Given the description of an element on the screen output the (x, y) to click on. 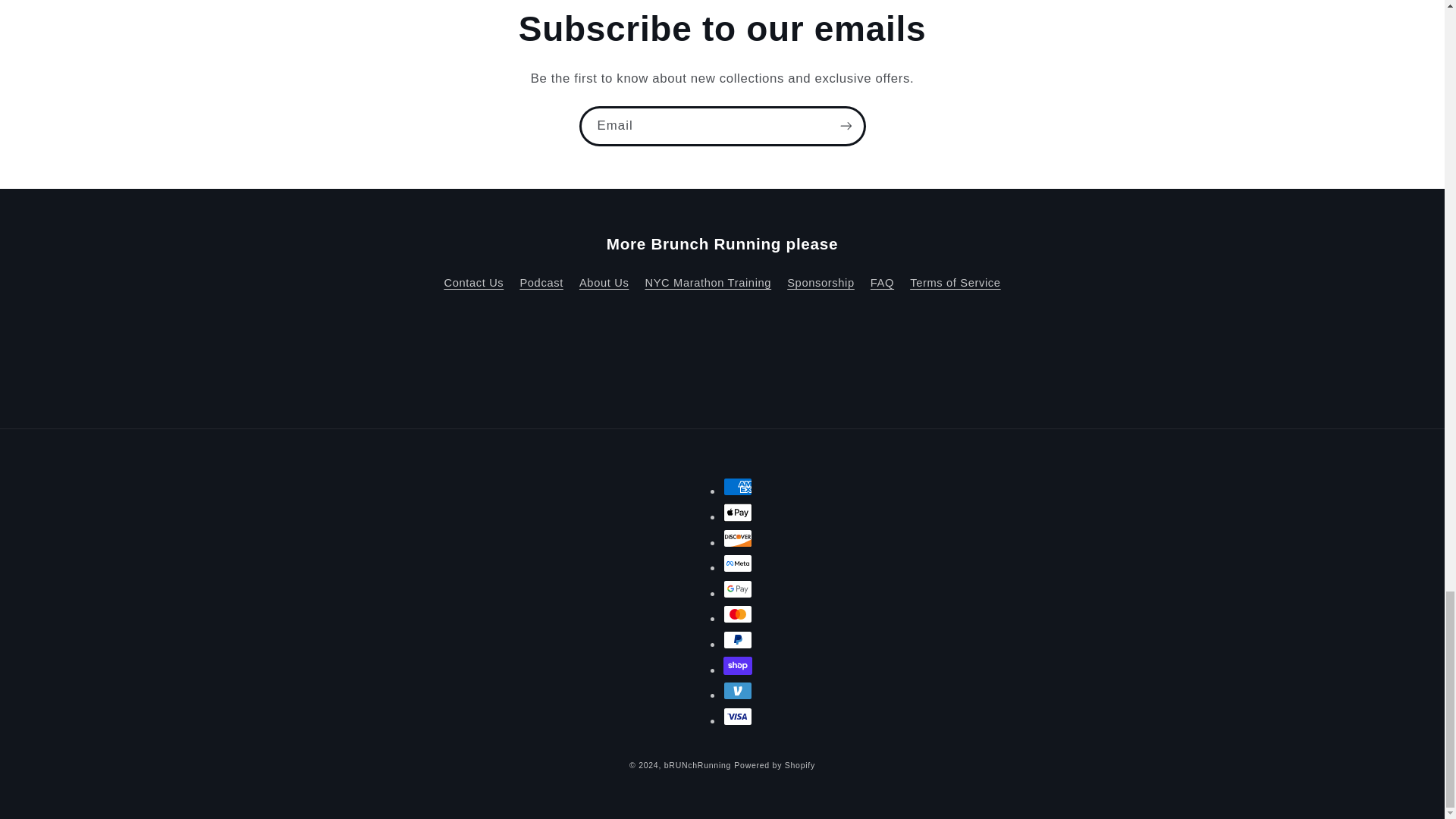
American Express (737, 486)
Shop Pay (737, 665)
Discover (737, 538)
Meta Pay (737, 563)
Mastercard (737, 614)
Venmo (737, 690)
Google Pay (737, 588)
PayPal (737, 639)
Apple Pay (737, 512)
Visa (737, 716)
